Given the description of an element on the screen output the (x, y) to click on. 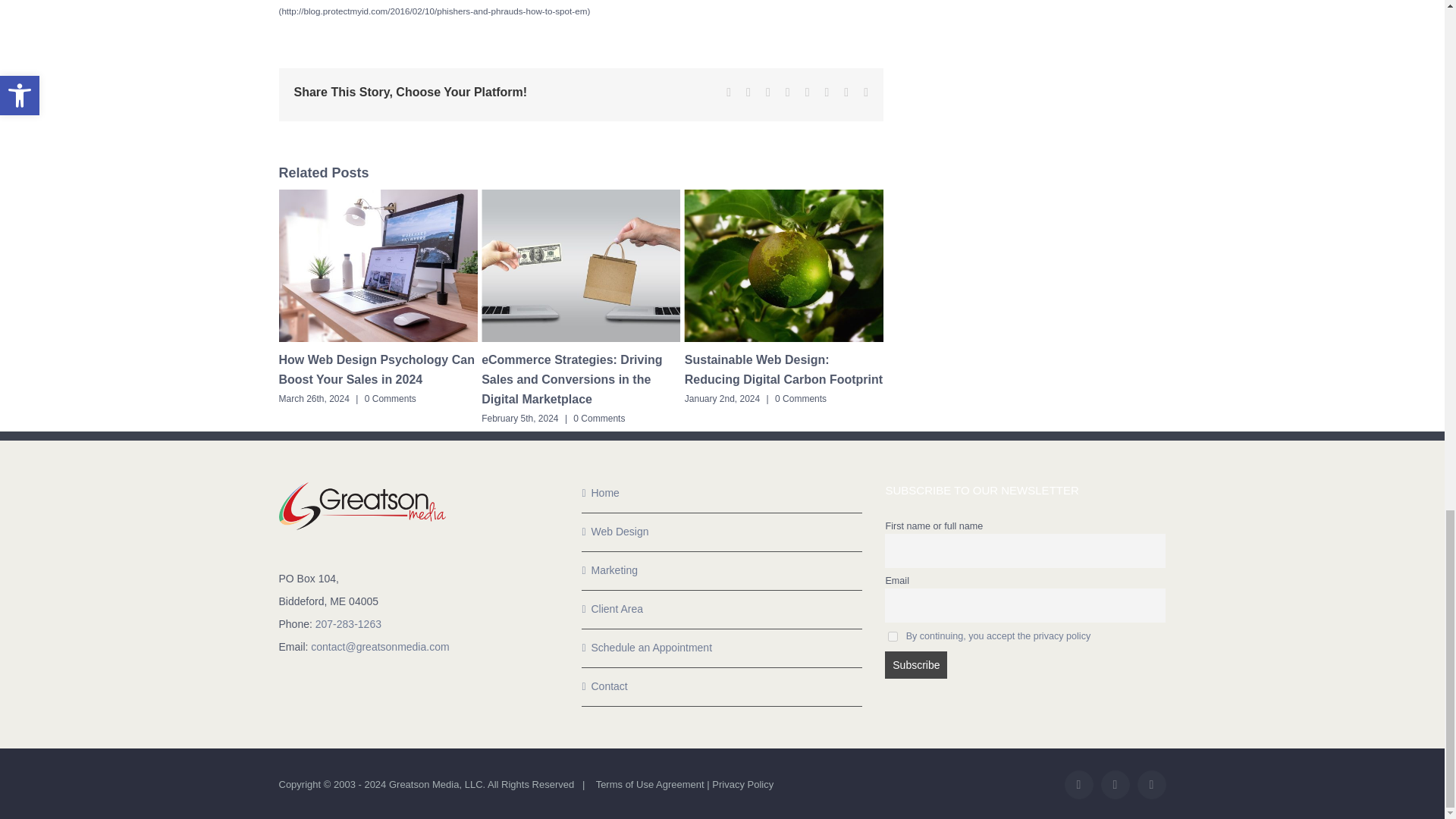
on (893, 636)
How Web Design Psychology Can Boost Your Sales in 2024 (376, 368)
Subscribe (916, 664)
